Given the description of an element on the screen output the (x, y) to click on. 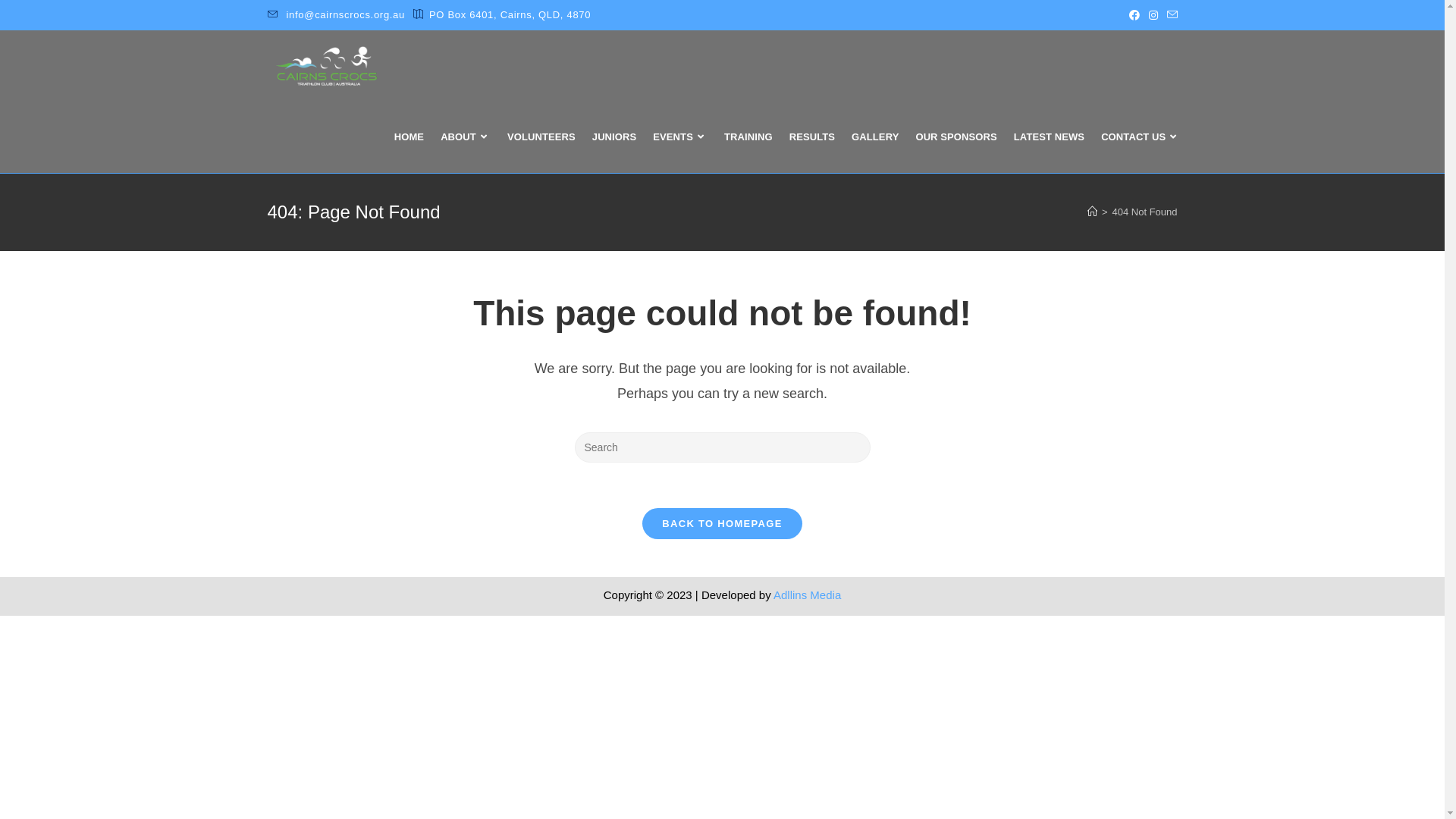
TRAINING Element type: text (748, 136)
HOME Element type: text (408, 136)
Adllins Media Element type: text (806, 594)
OUR SPONSORS Element type: text (955, 136)
LATEST NEWS Element type: text (1048, 136)
info@cairnscrocs.org.au Element type: text (345, 14)
ABOUT Element type: text (465, 136)
CONTACT US Element type: text (1140, 136)
GALLERY Element type: text (874, 136)
JUNIORS Element type: text (614, 136)
RESULTS Element type: text (812, 136)
BACK TO HOMEPAGE Element type: text (721, 523)
VOLUNTEERS Element type: text (540, 136)
EVENTS Element type: text (679, 136)
